Given the description of an element on the screen output the (x, y) to click on. 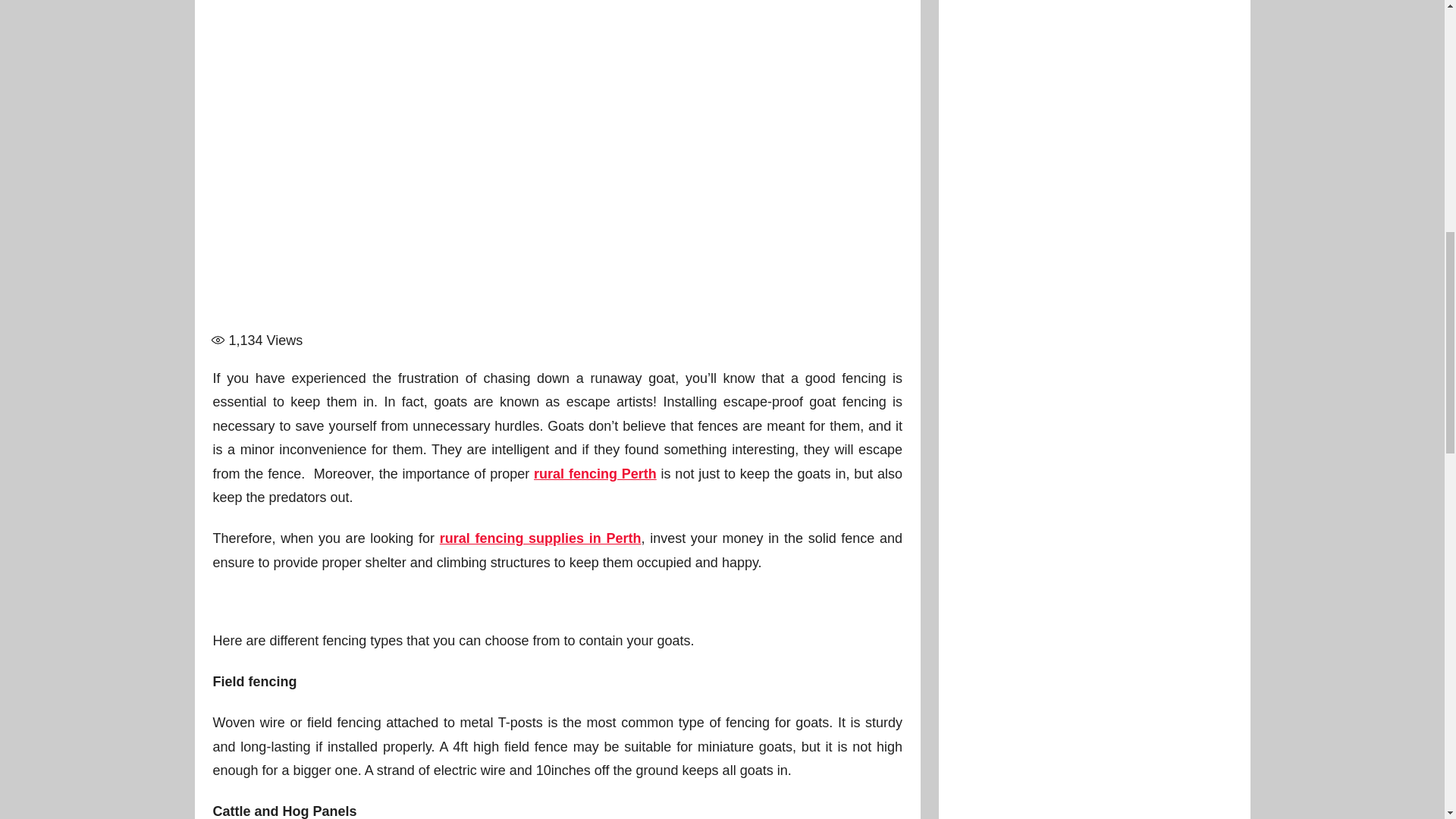
rural fencing supplies in Perth (540, 538)
rural fencing Perth (595, 473)
Advertisement (557, 231)
